Given the description of an element on the screen output the (x, y) to click on. 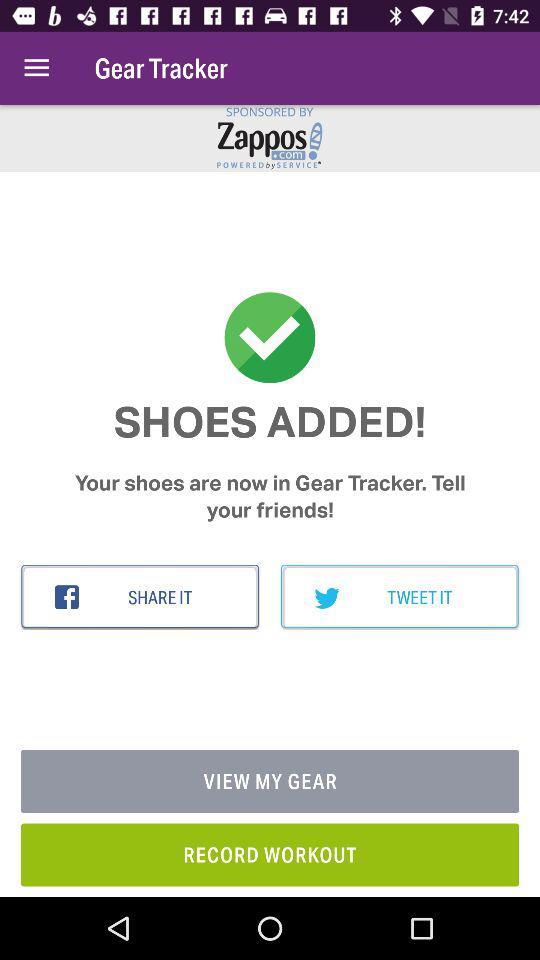
open the icon below your shoes are item (399, 597)
